Given the description of an element on the screen output the (x, y) to click on. 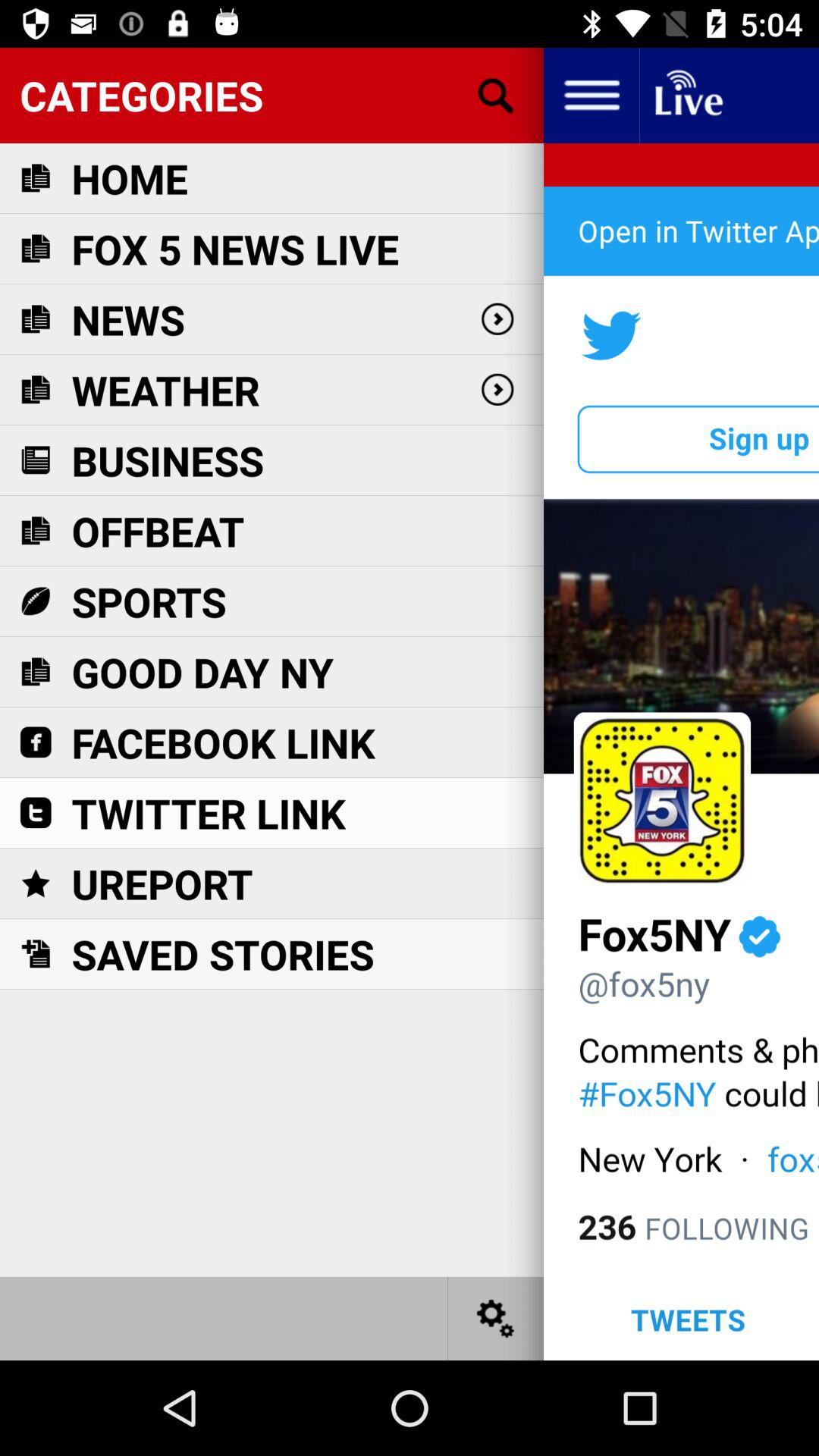
select the item above the sports (157, 530)
